Given the description of an element on the screen output the (x, y) to click on. 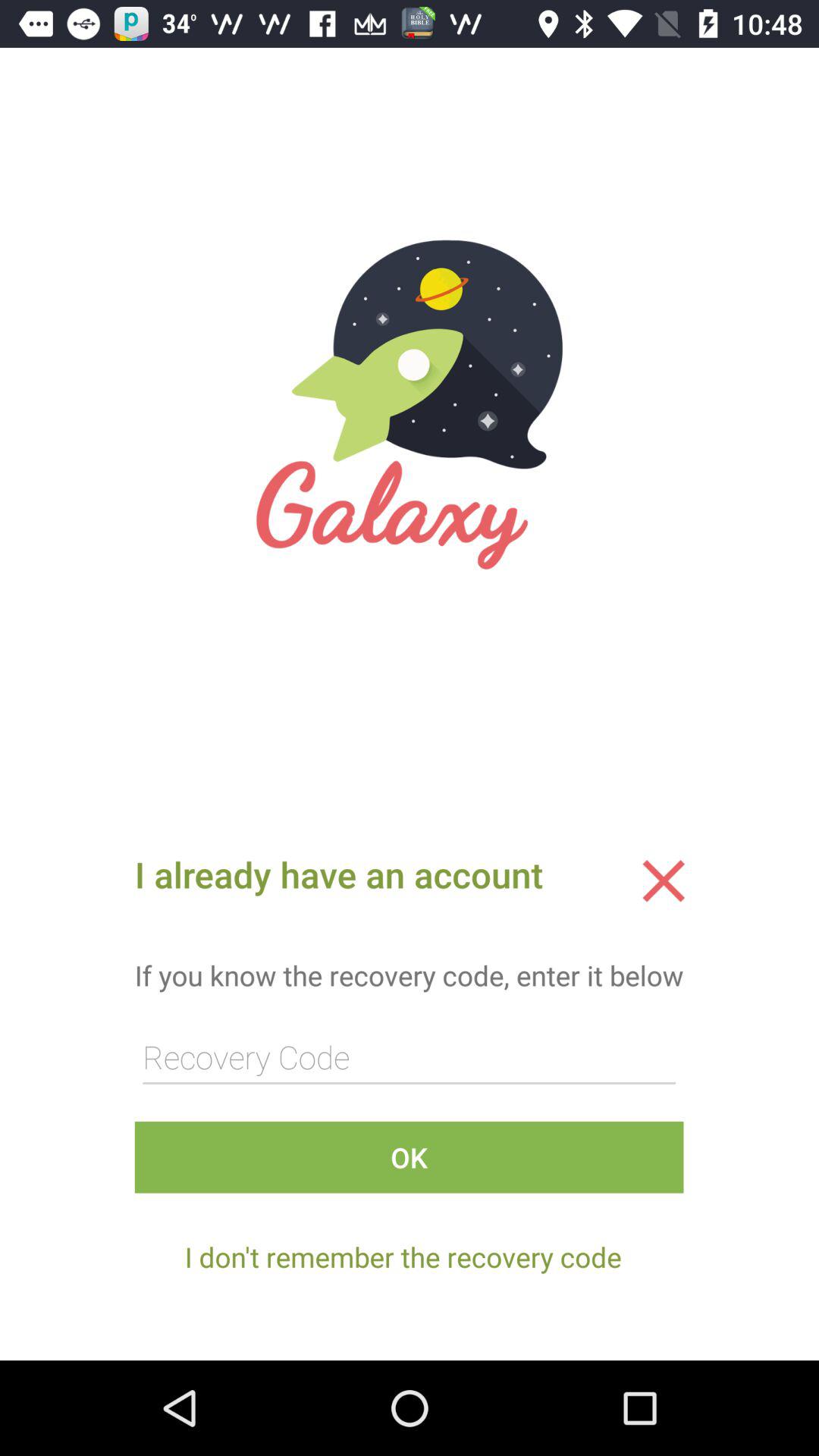
click the icon above i don t icon (408, 1157)
